Given the description of an element on the screen output the (x, y) to click on. 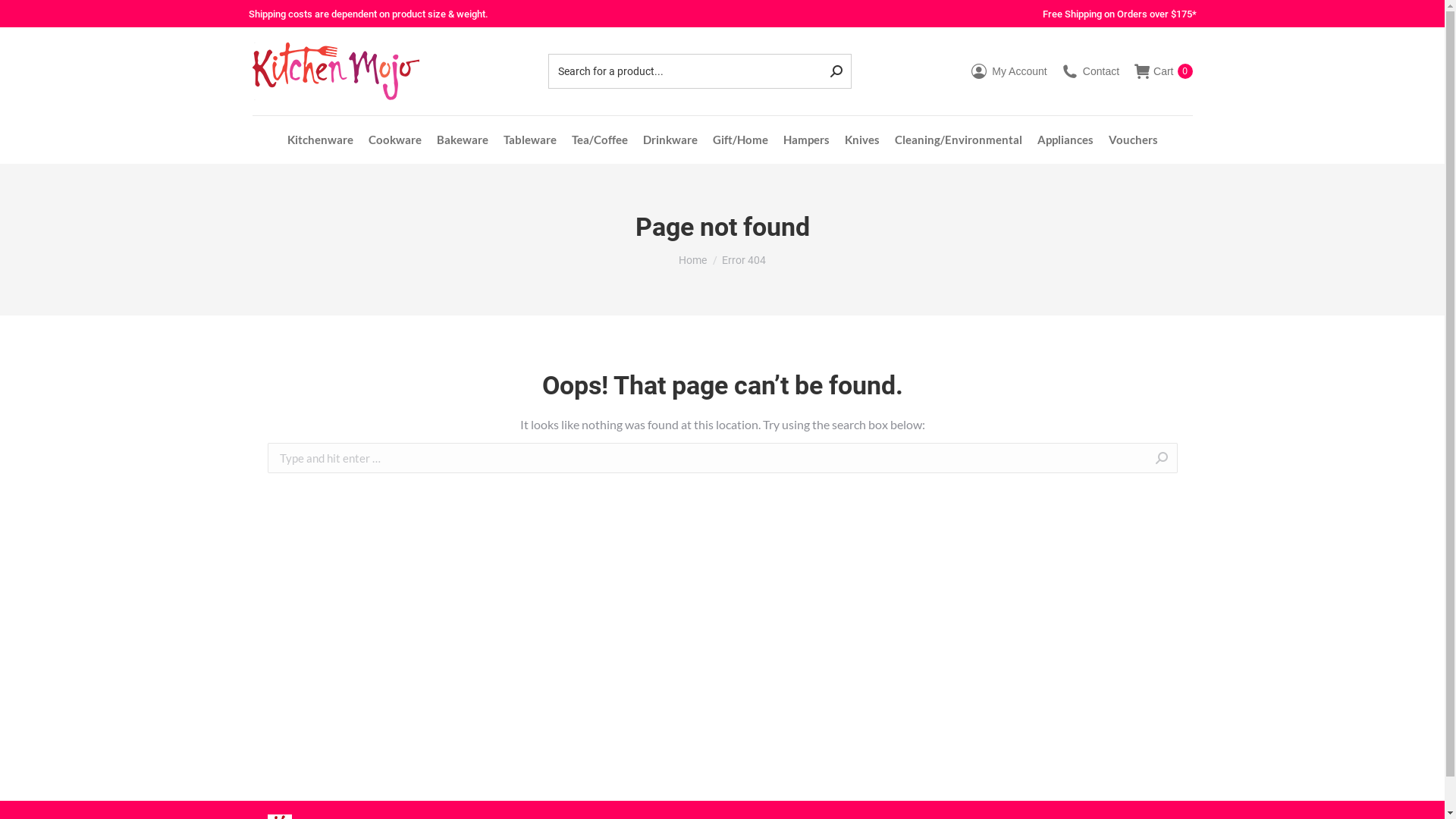
Kitchenware Element type: text (319, 139)
Cart
0 Element type: text (1163, 70)
Hampers Element type: text (805, 139)
Gift/Home Element type: text (740, 139)
Go! Element type: text (1199, 459)
Tableware Element type: text (529, 139)
Appliances Element type: text (1065, 139)
Go! Element type: text (23, 16)
My Account Element type: text (1009, 70)
Tea/Coffee Element type: text (599, 139)
Cookware Element type: text (394, 139)
Drinkware Element type: text (670, 139)
Contact Element type: text (1090, 70)
Bakeware Element type: text (462, 139)
Vouchers Element type: text (1133, 139)
Home Element type: text (692, 260)
Search form Element type: hover (698, 70)
Knives Element type: text (861, 139)
Cleaning/Environmental Element type: text (958, 139)
